Given the description of an element on the screen output the (x, y) to click on. 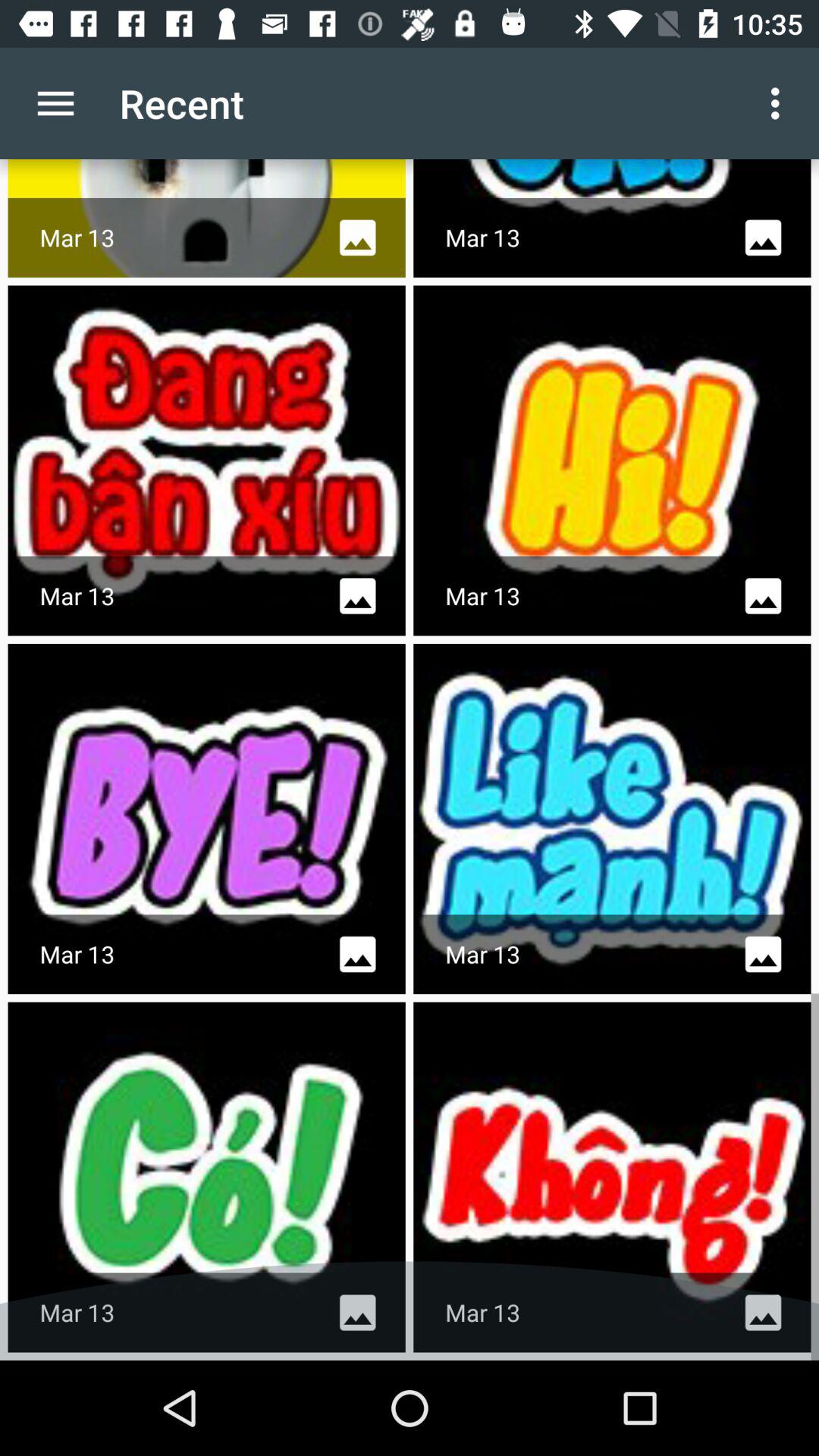
click the icon next to recent icon (55, 103)
